Given the description of an element on the screen output the (x, y) to click on. 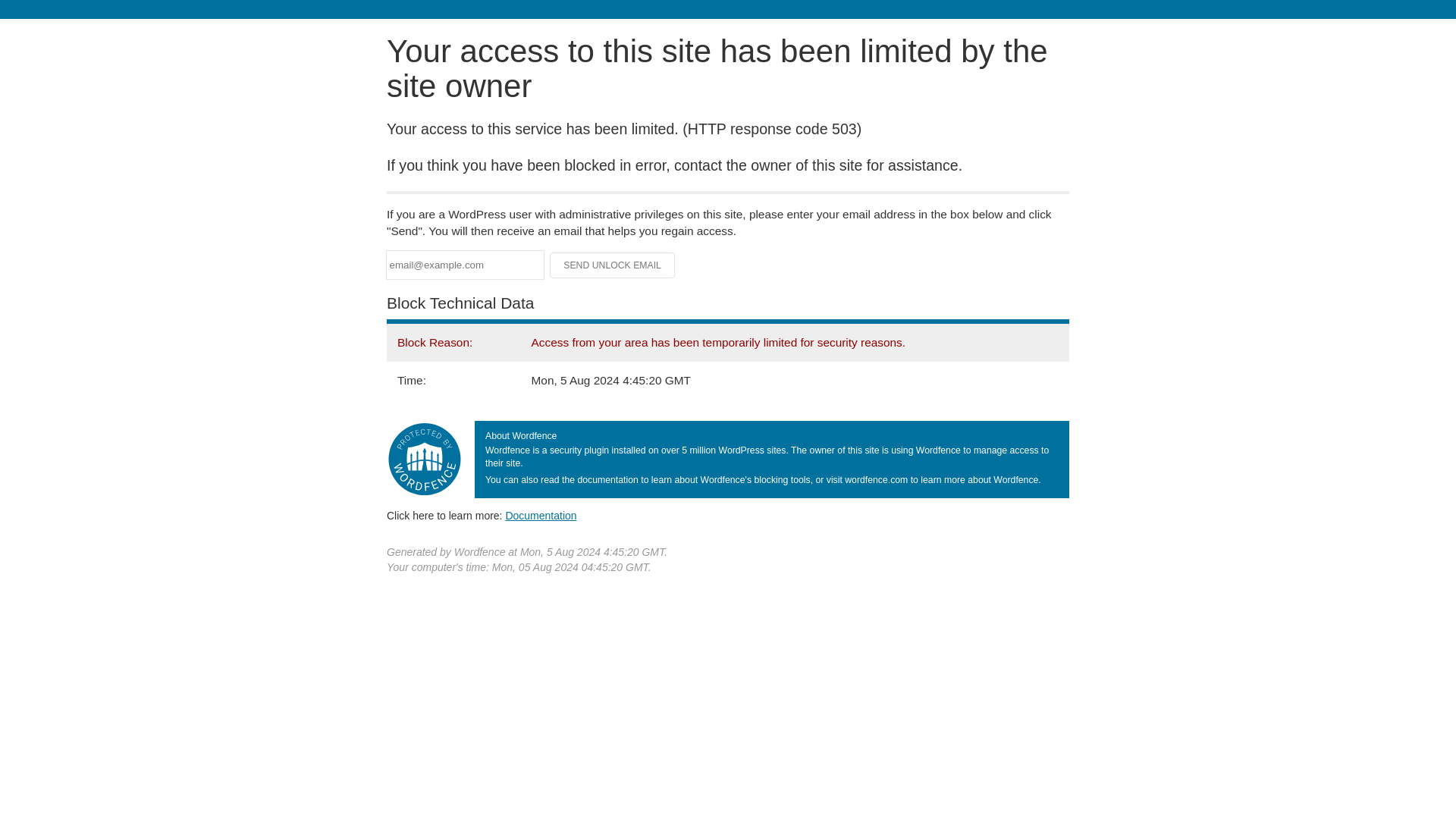
Send Unlock Email (612, 265)
Documentation (540, 515)
Send Unlock Email (612, 265)
